Given the description of an element on the screen output the (x, y) to click on. 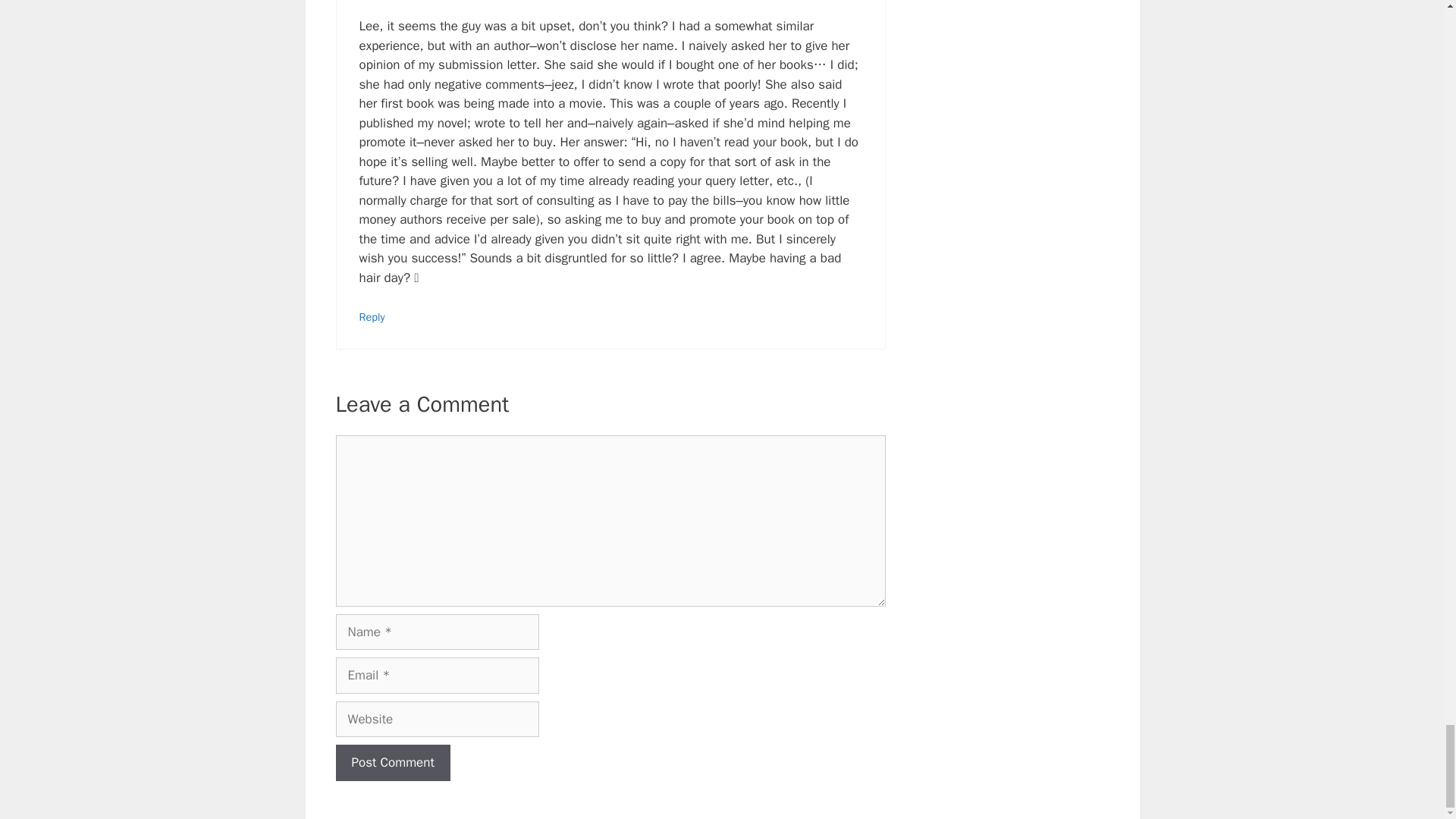
Post Comment (391, 762)
